Given the description of an element on the screen output the (x, y) to click on. 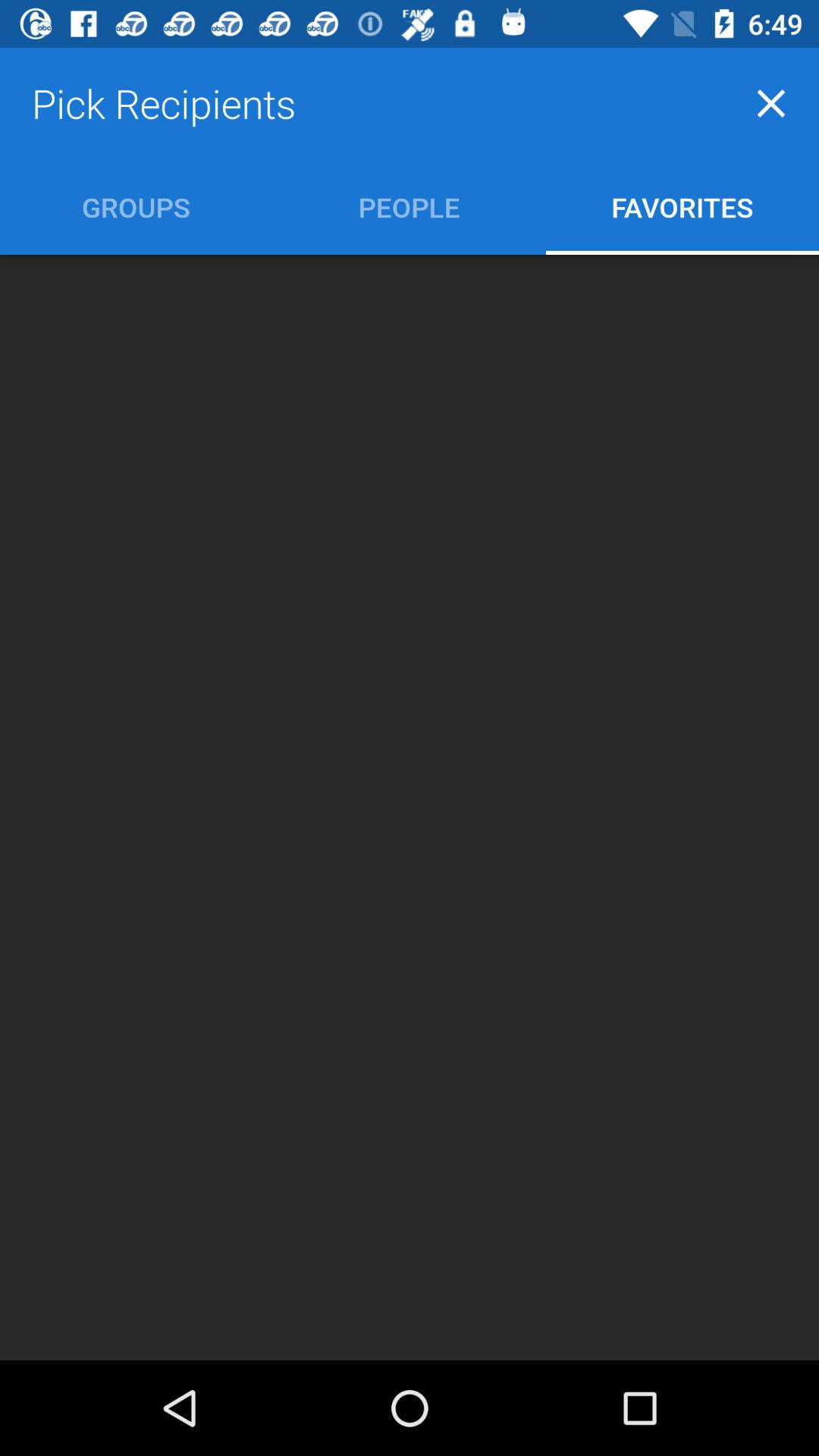
open icon next to people item (682, 206)
